Given the description of an element on the screen output the (x, y) to click on. 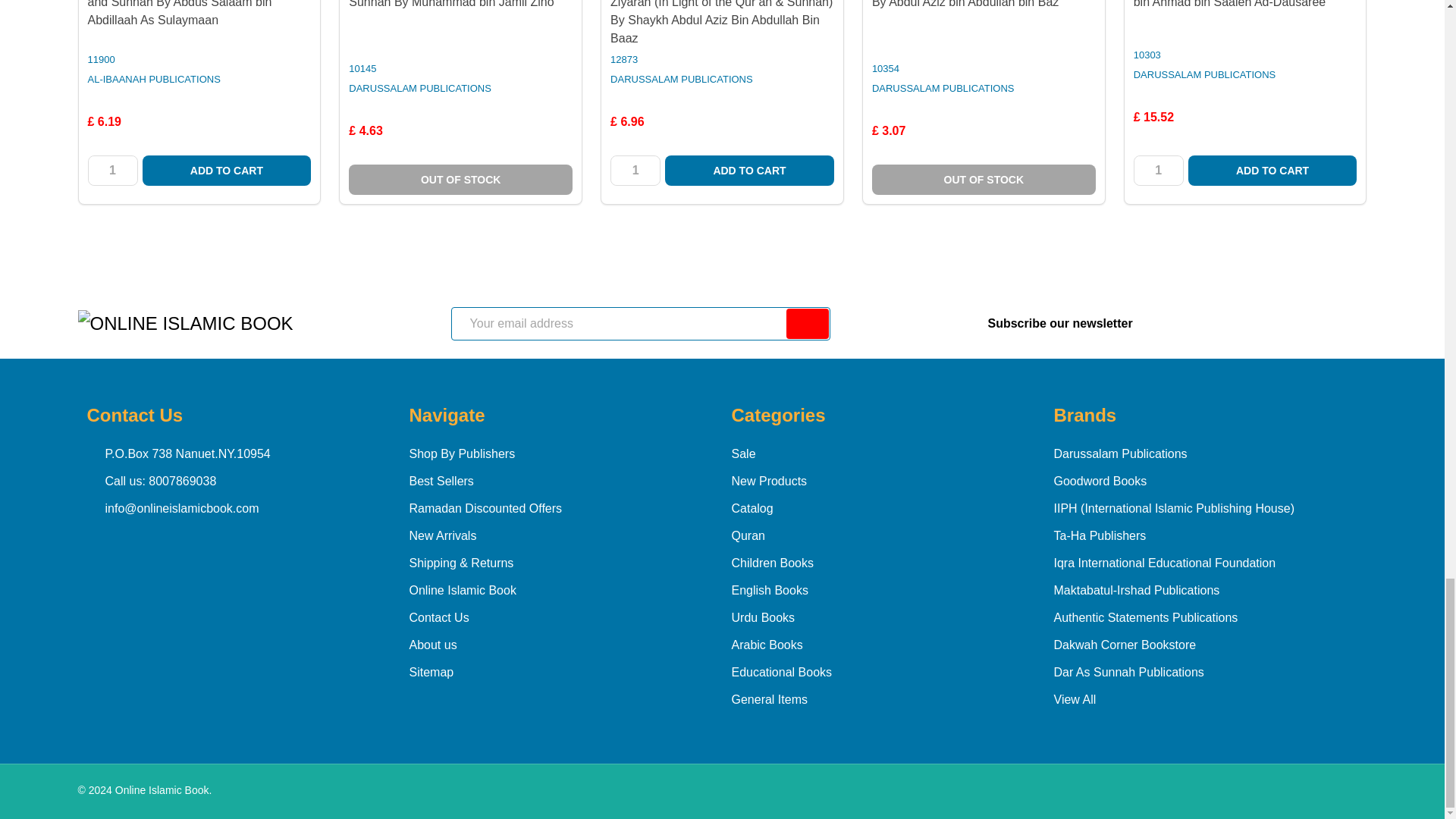
1 (1158, 170)
1 (111, 170)
1 (635, 170)
